Given the description of an element on the screen output the (x, y) to click on. 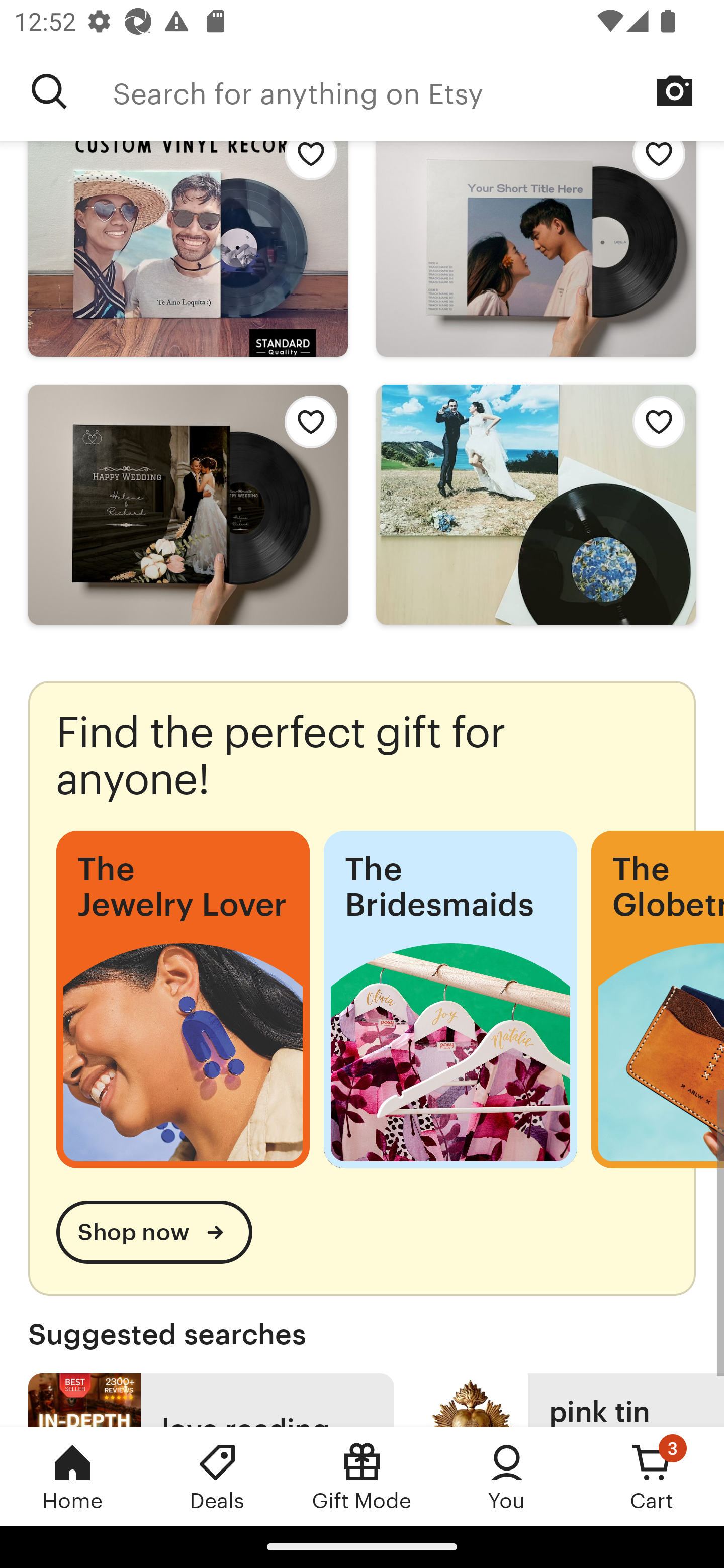
Search for anything on Etsy (49, 91)
Search by image (674, 90)
Search for anything on Etsy (418, 91)
Find the perfect gift for anyone! Shop now (361, 987)
The Jewelry Lover (182, 999)
The Bridesmaids (450, 999)
Shop now (154, 1232)
Suggested searches (362, 1334)
Deals (216, 1475)
Gift Mode (361, 1475)
You (506, 1475)
Cart, 3 new notifications Cart (651, 1475)
